Given the description of an element on the screen output the (x, y) to click on. 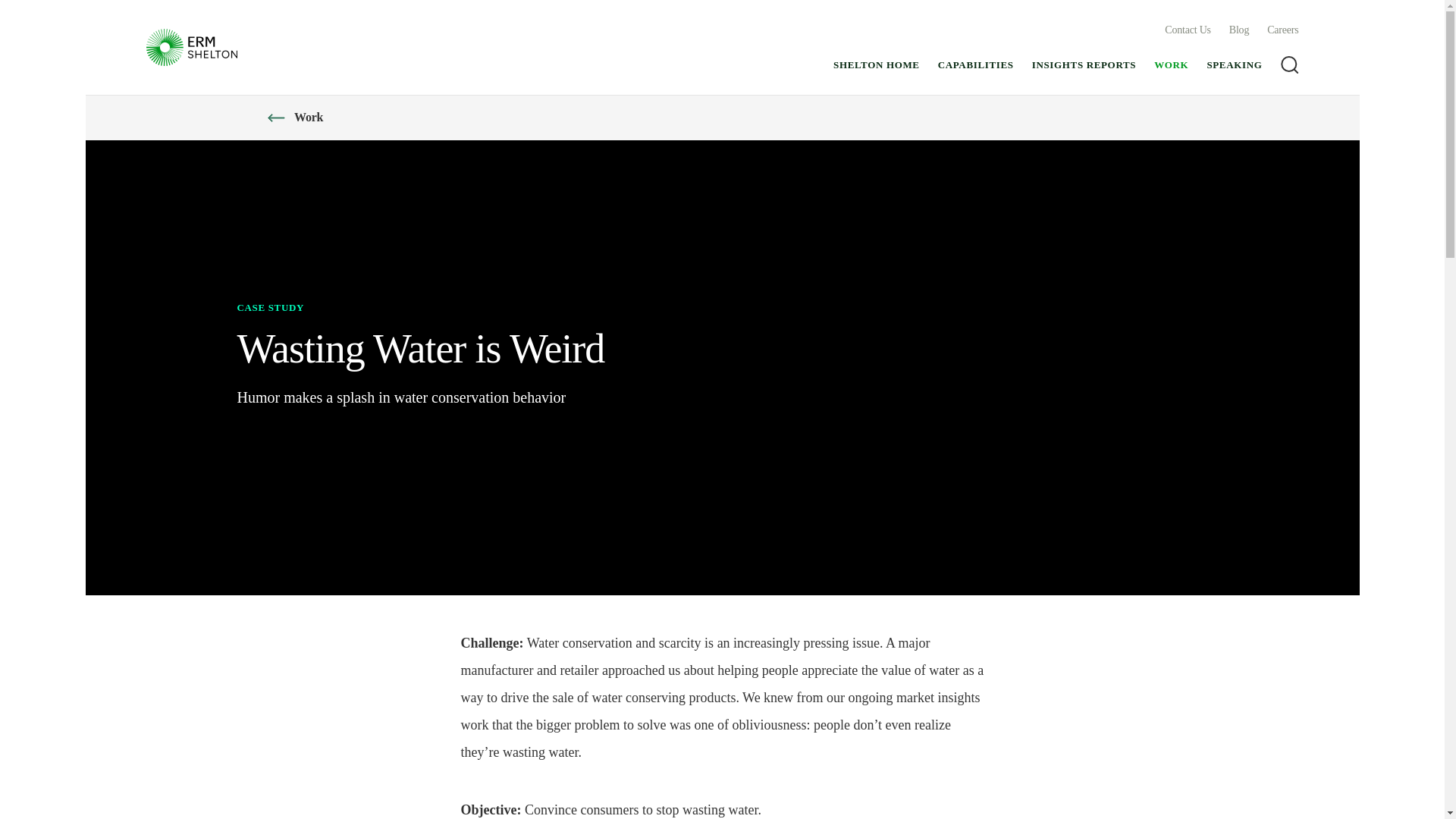
SHELTON HOME (876, 65)
CAPABILITIES (975, 65)
Careers (1282, 29)
Contact Us (1187, 29)
WORK (1171, 65)
SPEAKING (1234, 65)
ERM Shelton (190, 47)
INSIGHTS REPORTS (1083, 65)
Work (308, 117)
